Given the description of an element on the screen output the (x, y) to click on. 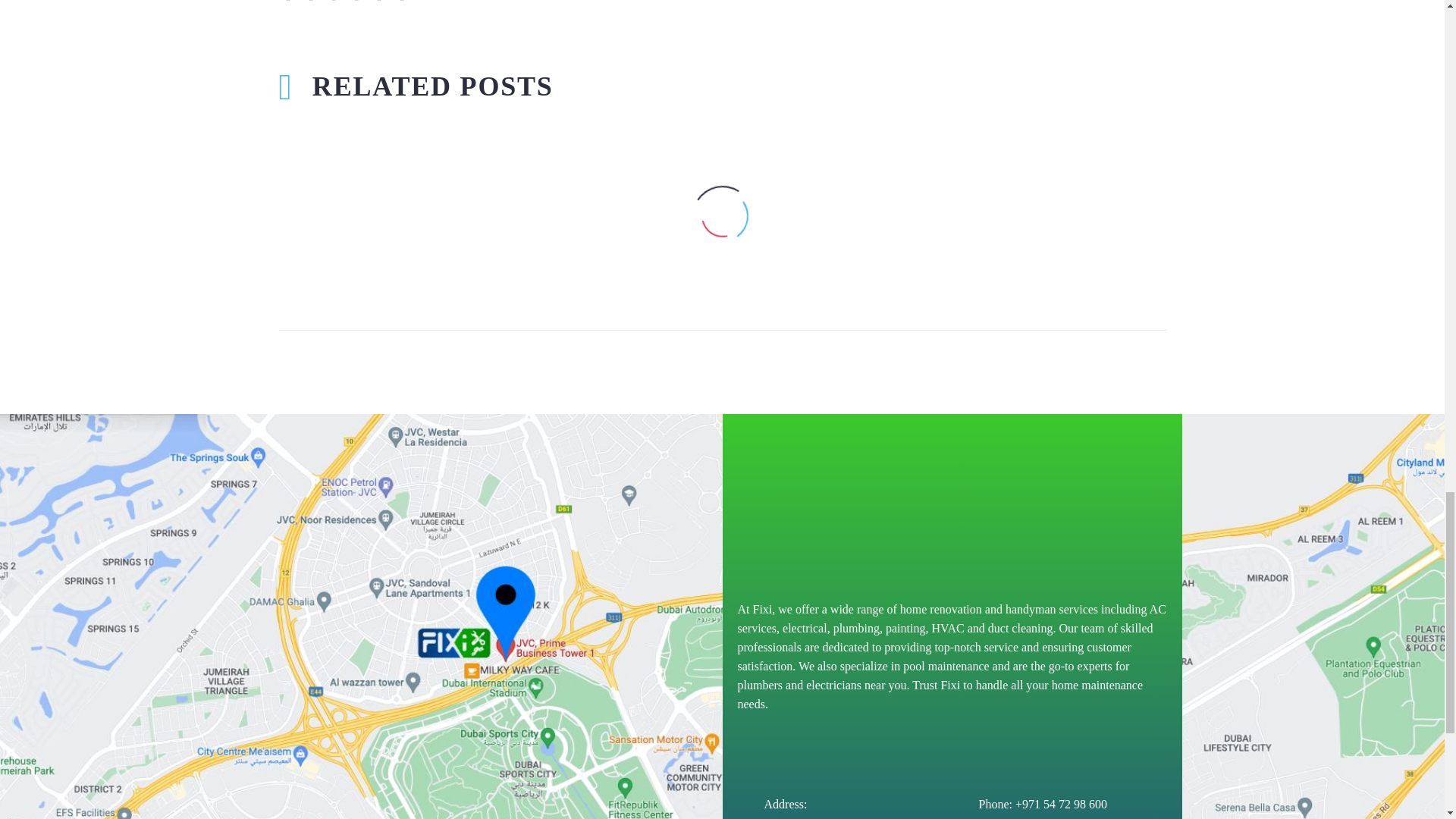
Twitter (310, 1)
Facebook (288, 1)
Pinterest (333, 1)
LinkedIn (378, 1)
Reddit (401, 1)
Tumblr (356, 1)
